Given the description of an element on the screen output the (x, y) to click on. 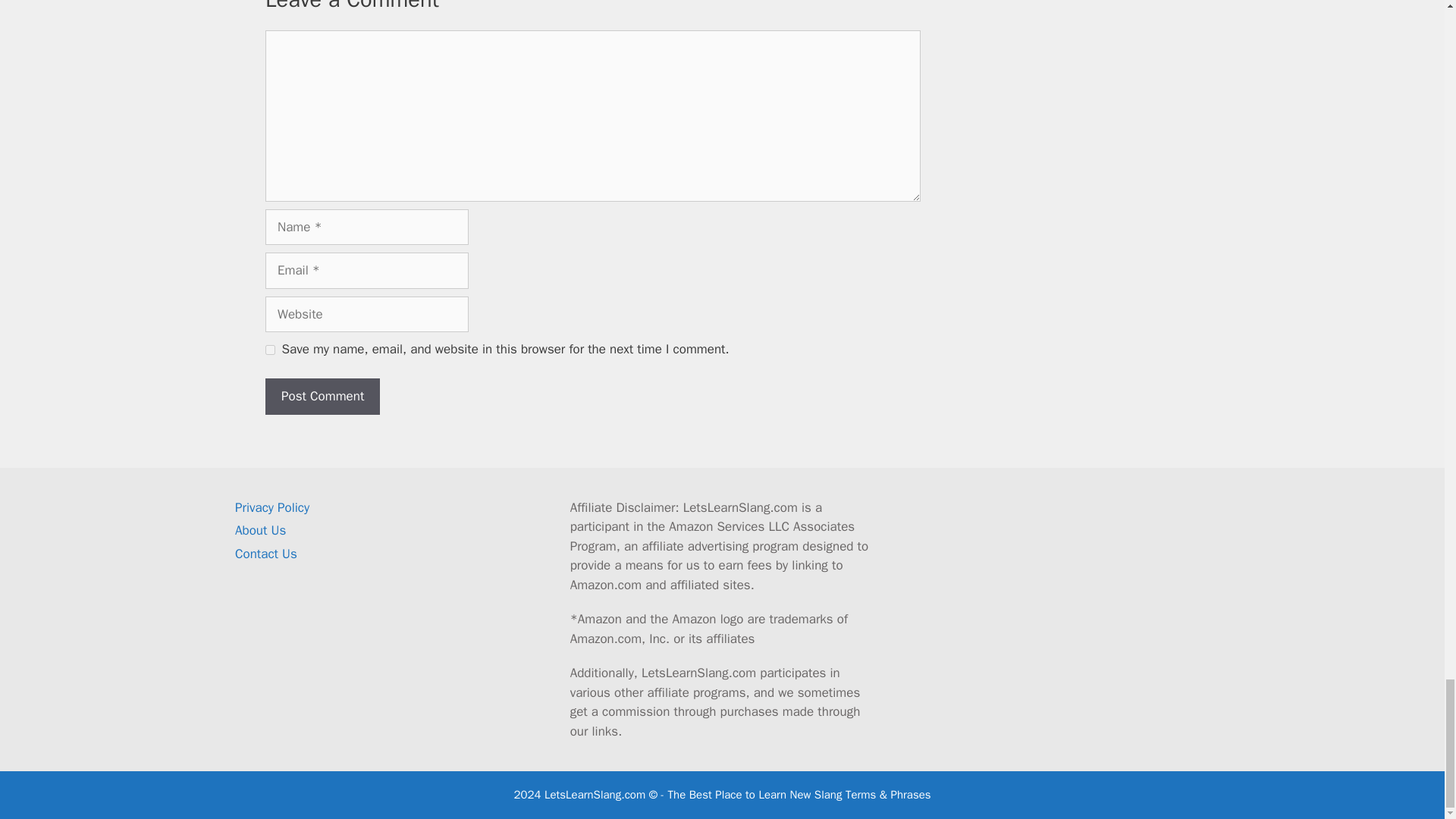
Post Comment (322, 396)
yes (269, 349)
